Given the description of an element on the screen output the (x, y) to click on. 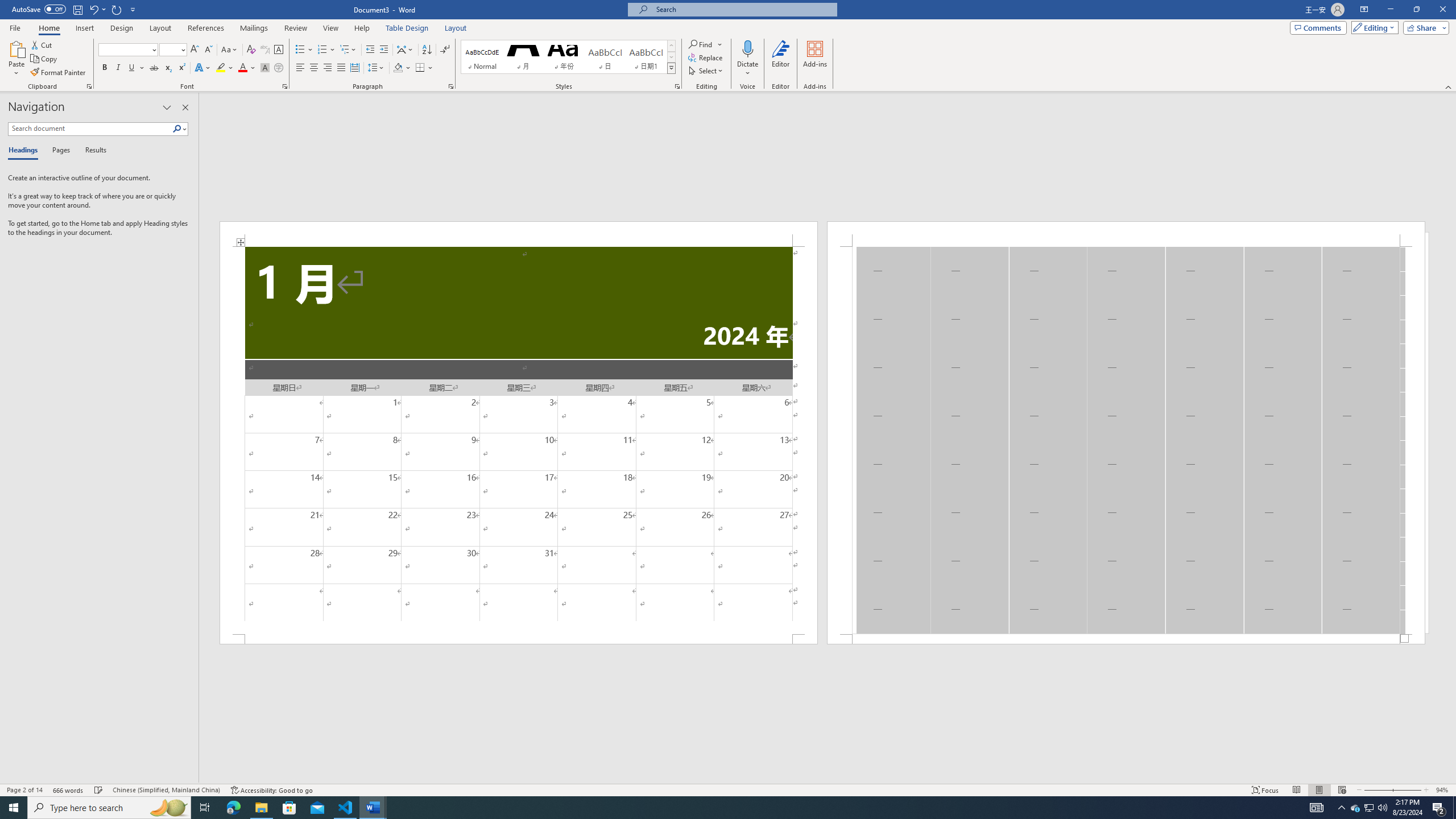
Word Count 666 words (68, 790)
Repeat Doc Close (117, 9)
Close pane (185, 107)
Select (705, 69)
Shading (402, 67)
Shading RGB(0, 0, 0) (397, 67)
Zoom In (1407, 790)
Page 1 content (518, 439)
Row up (670, 45)
